Given the description of an element on the screen output the (x, y) to click on. 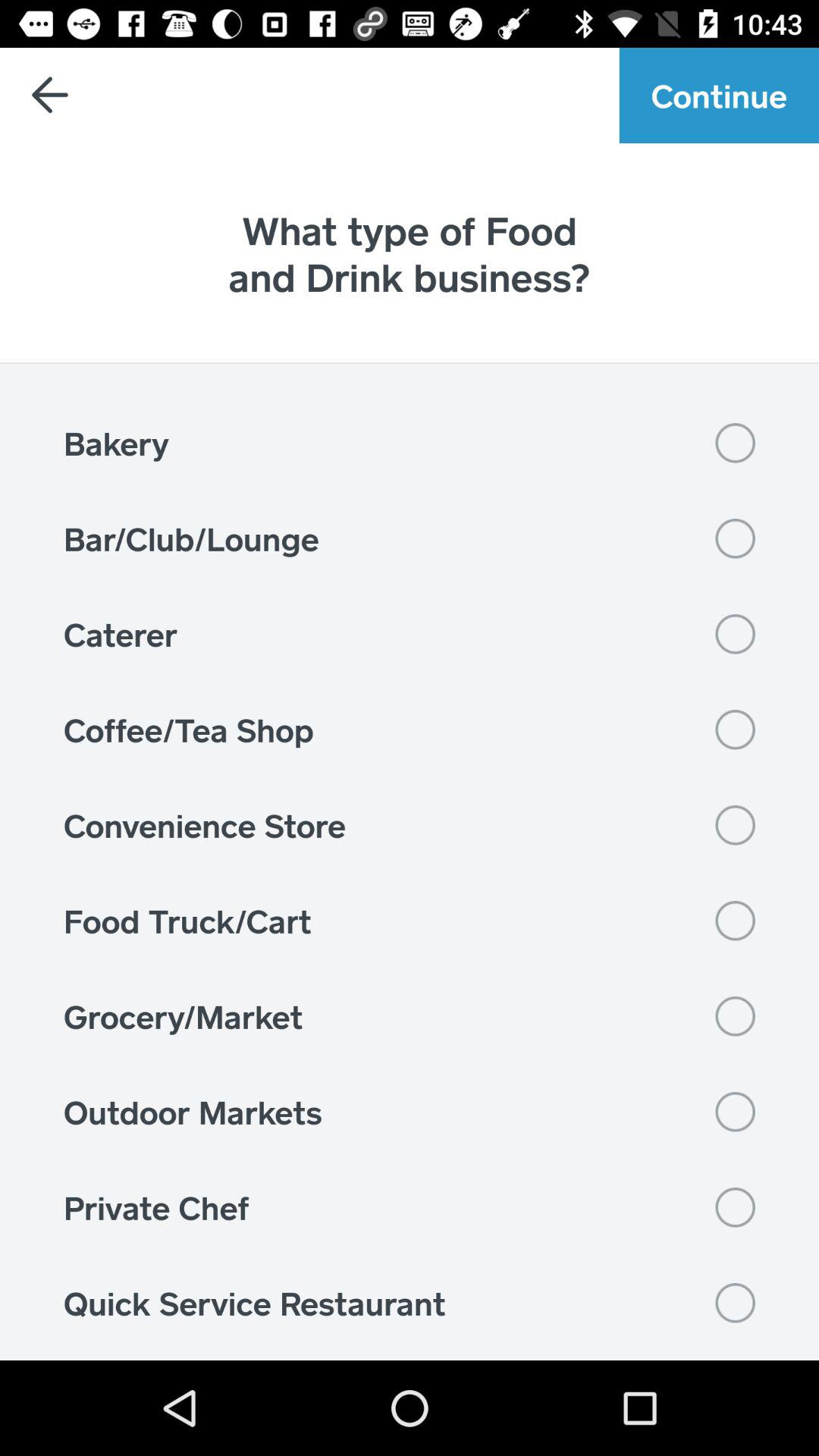
tap the item above quick service restaurant item (409, 1207)
